Given the description of an element on the screen output the (x, y) to click on. 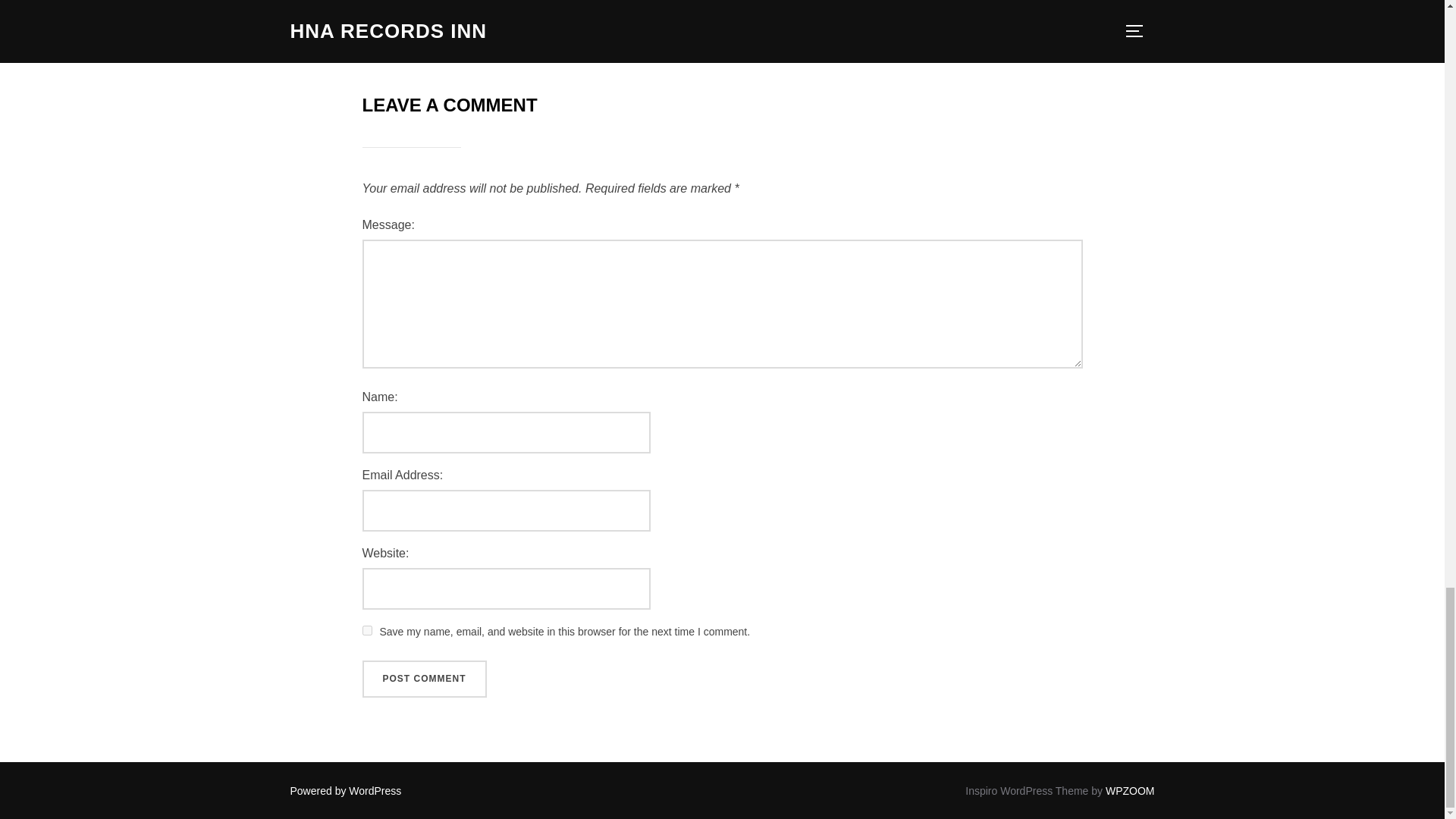
WPZOOM (1129, 790)
Post Comment (424, 679)
Post Comment (424, 679)
yes (367, 630)
Powered by WordPress (345, 790)
